Given the description of an element on the screen output the (x, y) to click on. 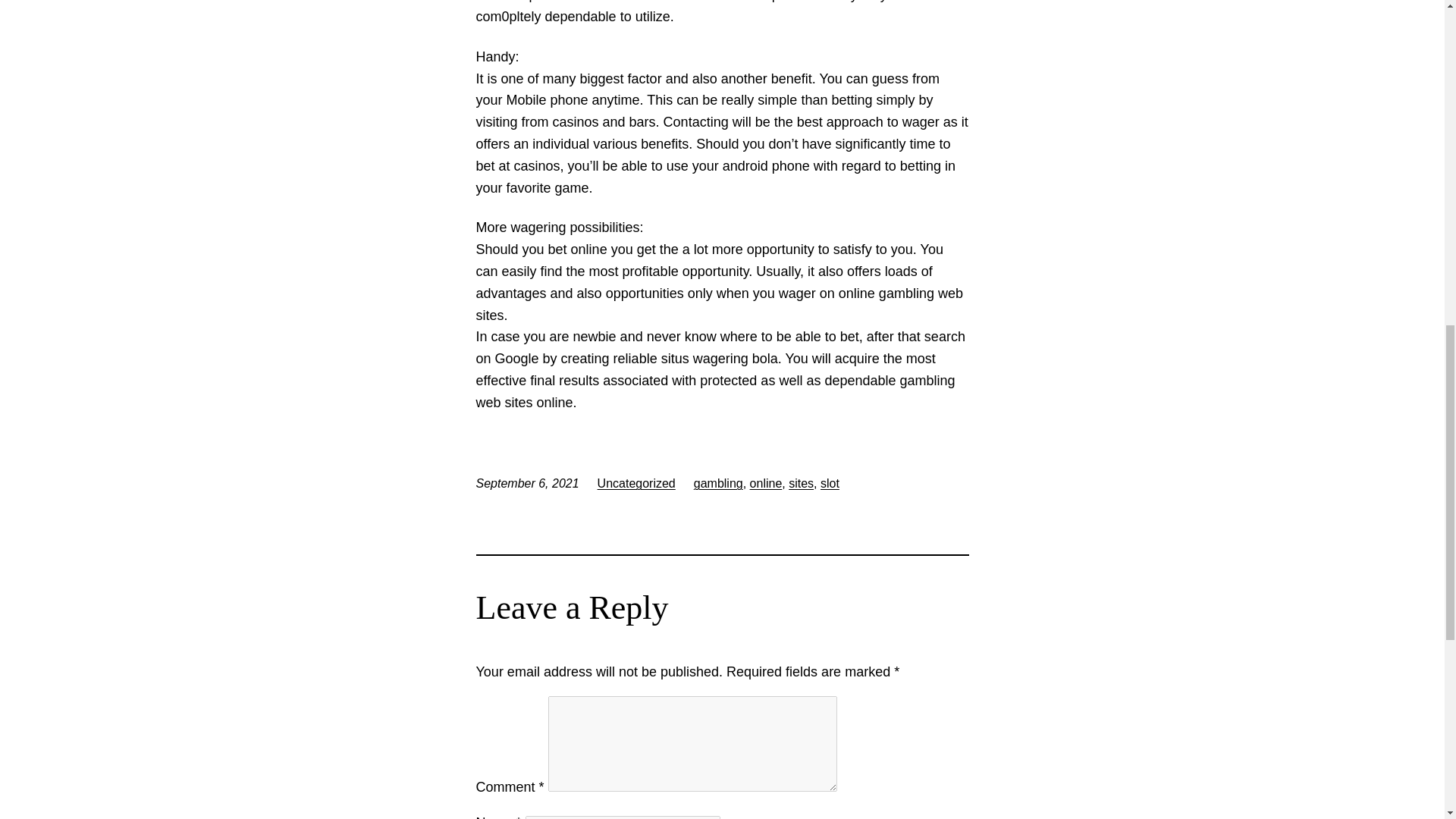
online (766, 482)
Uncategorized (635, 482)
sites (801, 482)
slot (830, 482)
gambling (718, 482)
